Given the description of an element on the screen output the (x, y) to click on. 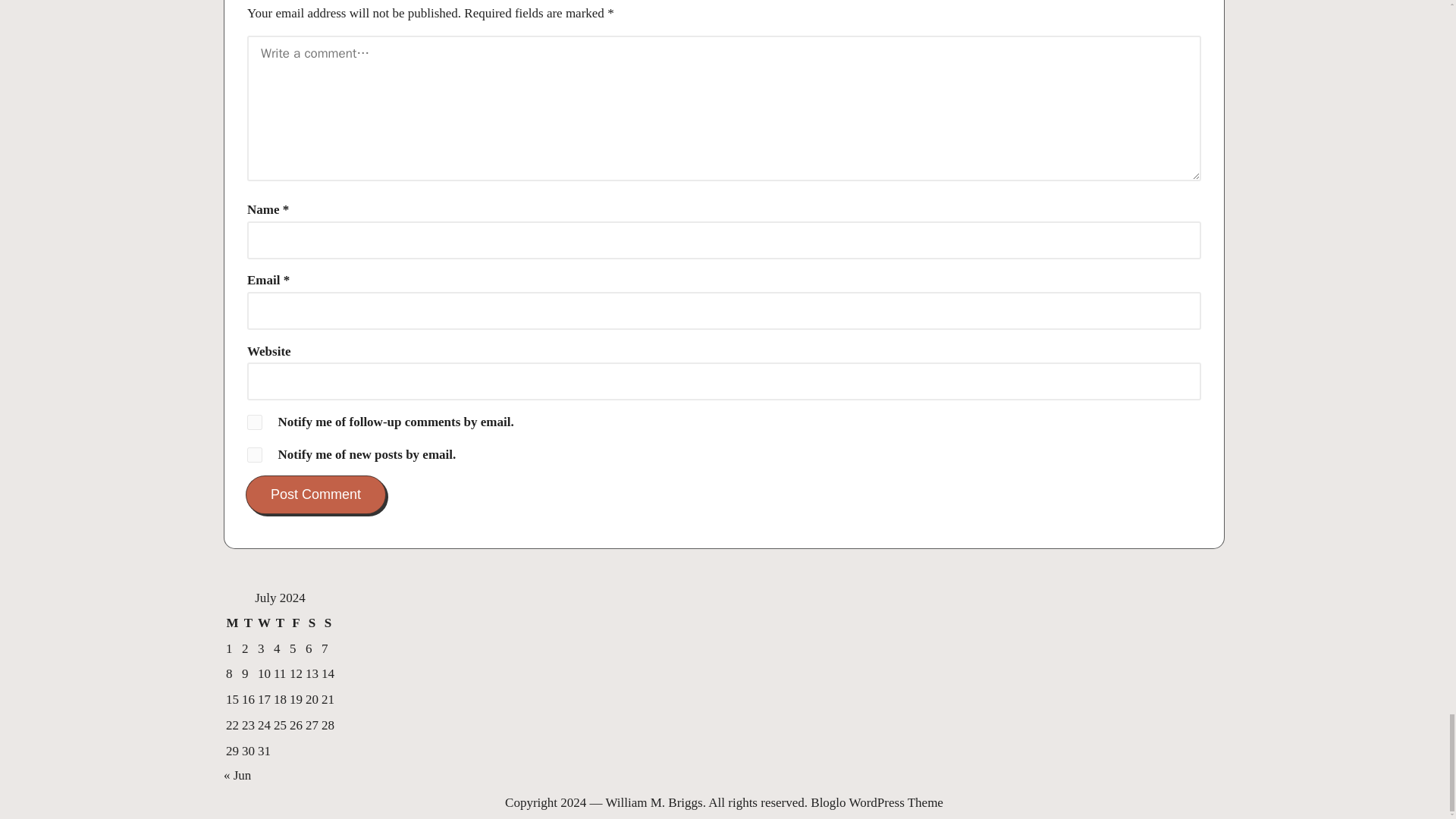
subscribe (254, 454)
subscribe (254, 421)
Post Comment (315, 494)
